Given the description of an element on the screen output the (x, y) to click on. 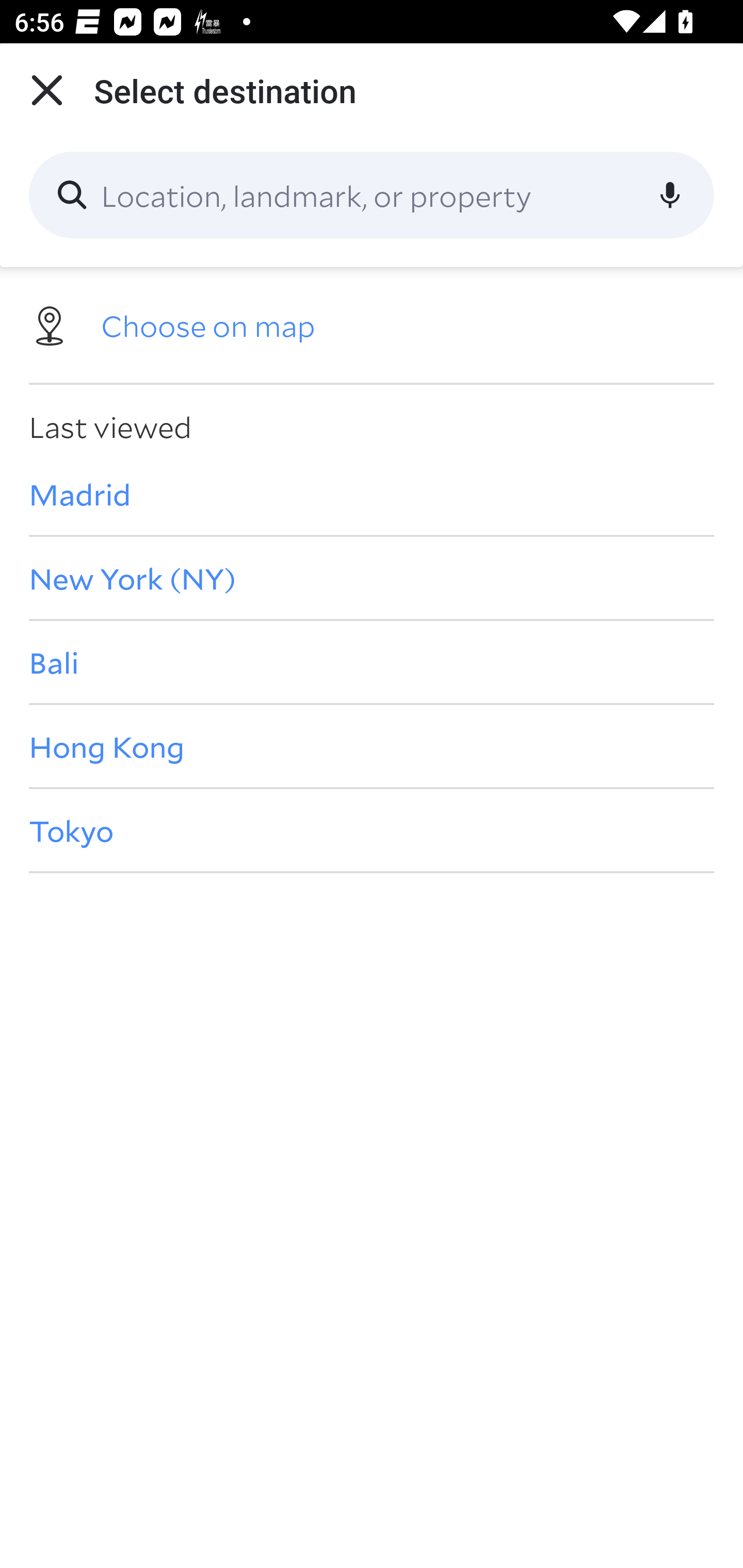
Location, landmark, or property (371, 195)
Choose on map (371, 324)
Madrid (371, 493)
New York (NY) (371, 577)
Bali (371, 661)
Hong Kong (371, 746)
Tokyo (371, 829)
